Given the description of an element on the screen output the (x, y) to click on. 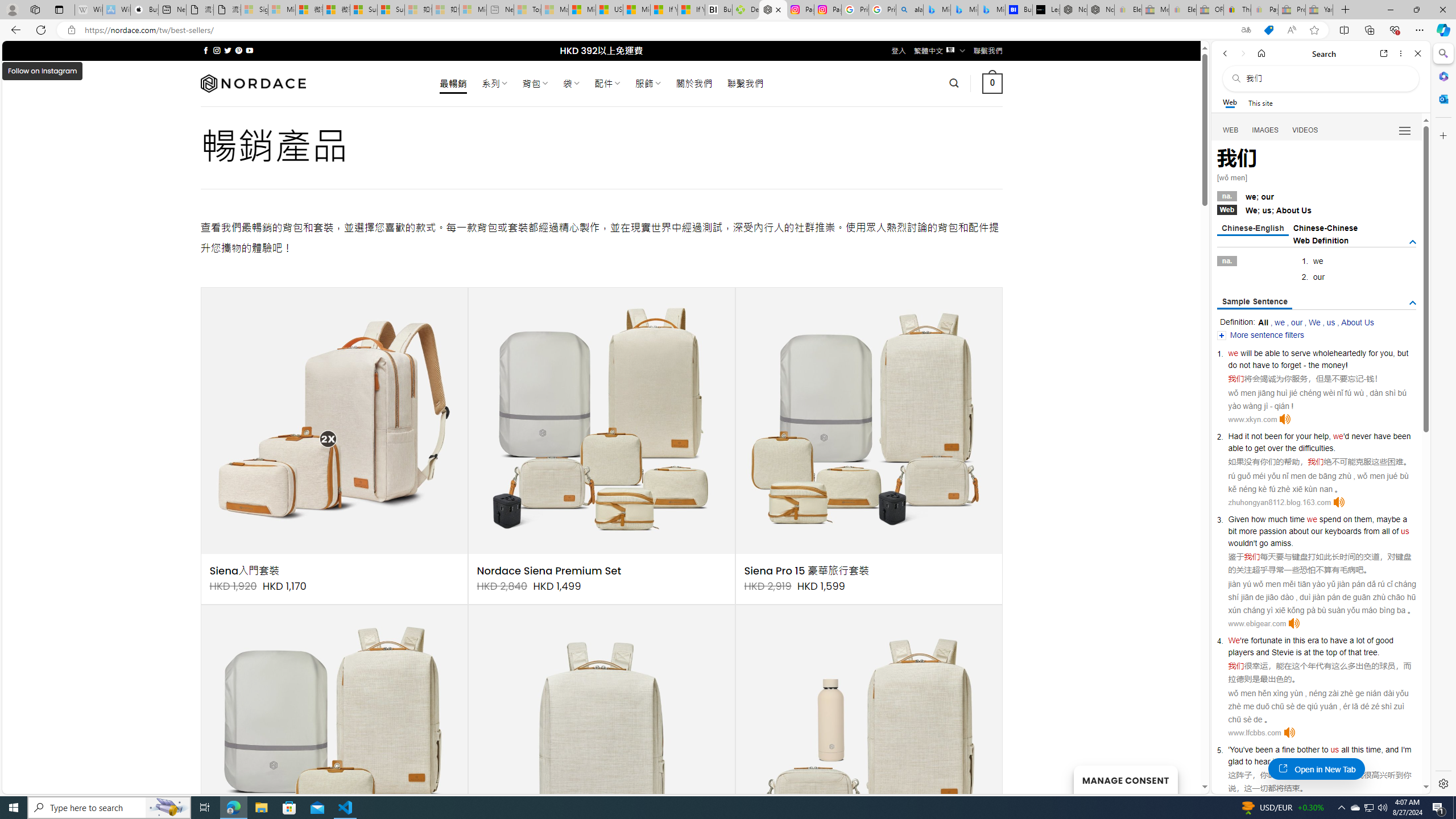
and (1262, 651)
. (1330, 760)
About Us (1357, 322)
Press Room - eBay Inc. - Sleeping (1292, 9)
on (1347, 519)
